Given the description of an element on the screen output the (x, y) to click on. 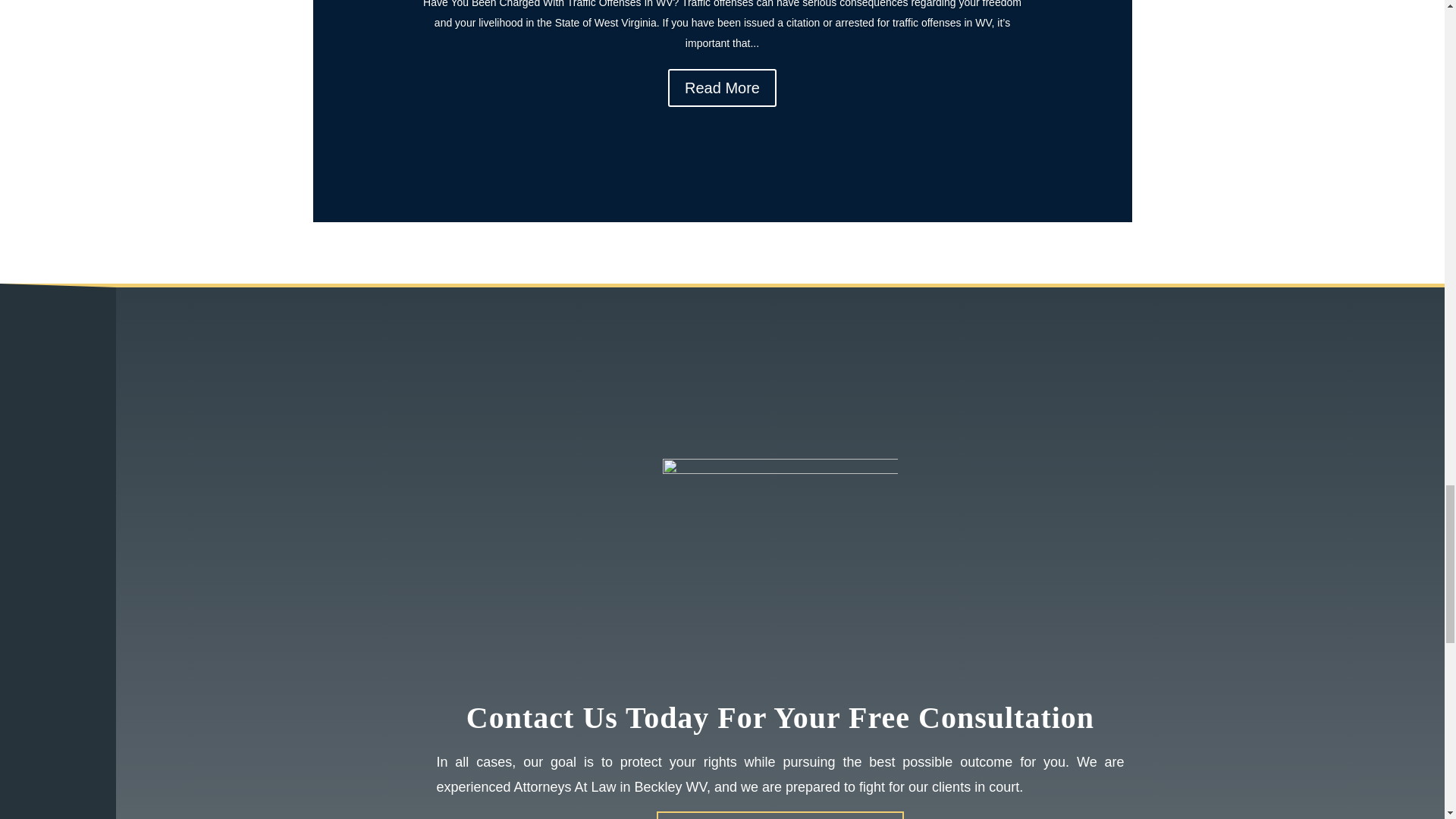
taylor hinkle and taylor white-text logo (780, 575)
